Given the description of an element on the screen output the (x, y) to click on. 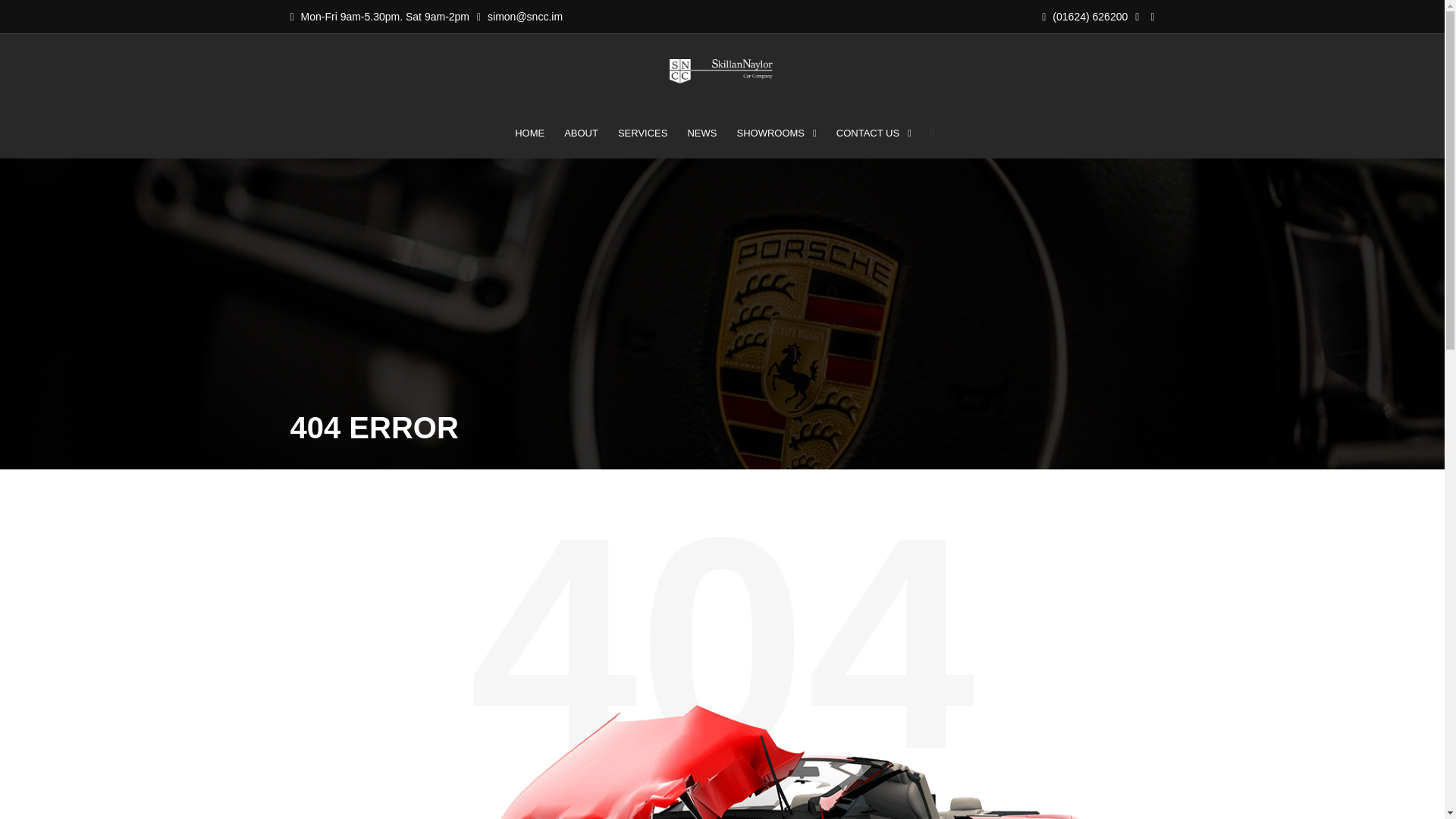
CONTACT US (874, 133)
404 (721, 761)
SERVICES (643, 133)
SHOWROOMS (775, 133)
NEWS (701, 133)
ABOUT (581, 133)
HOME (529, 133)
